Given the description of an element on the screen output the (x, y) to click on. 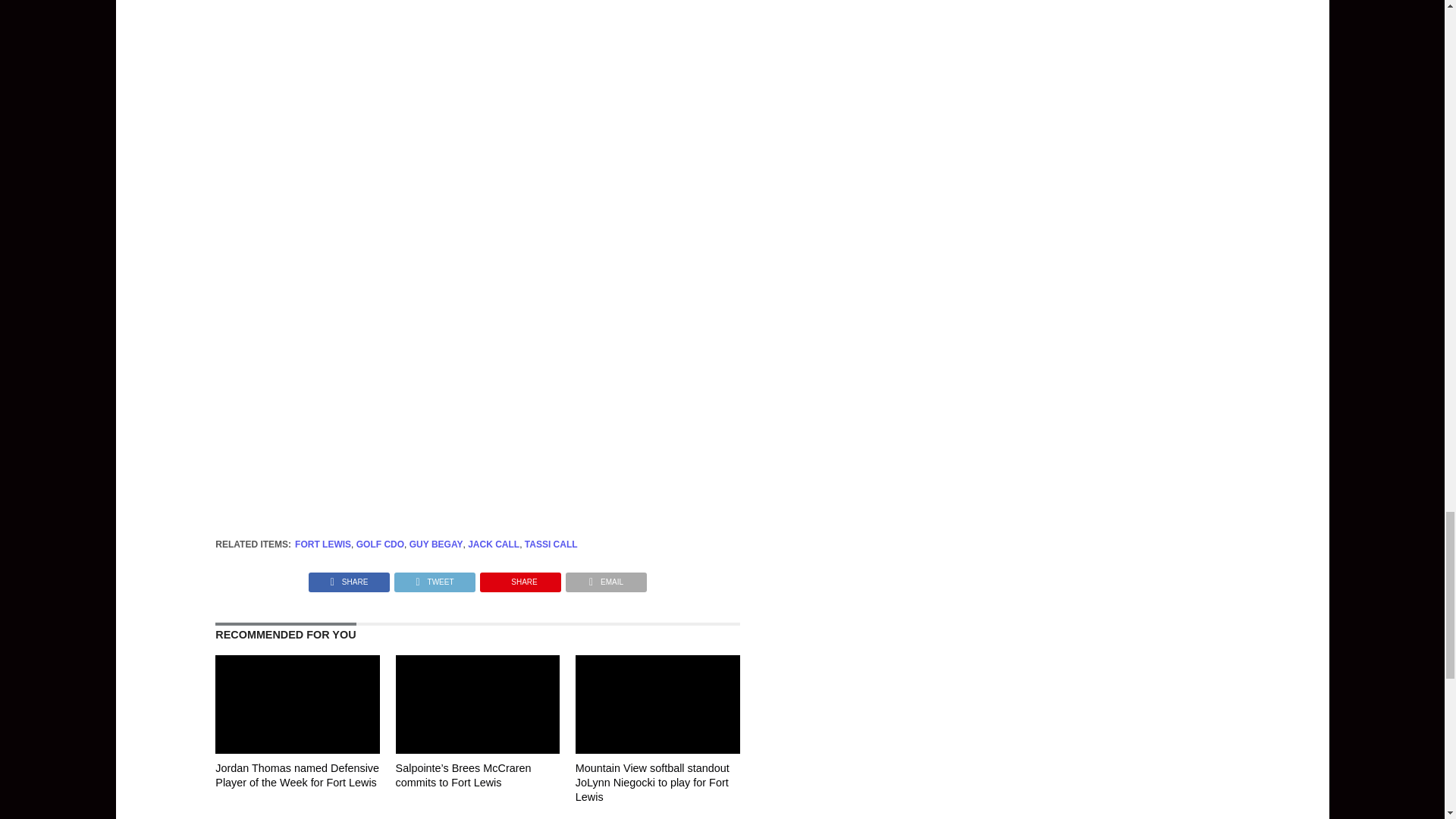
Share on Facebook (349, 577)
Pin This Post (520, 577)
Tweet This Post (434, 577)
